Given the description of an element on the screen output the (x, y) to click on. 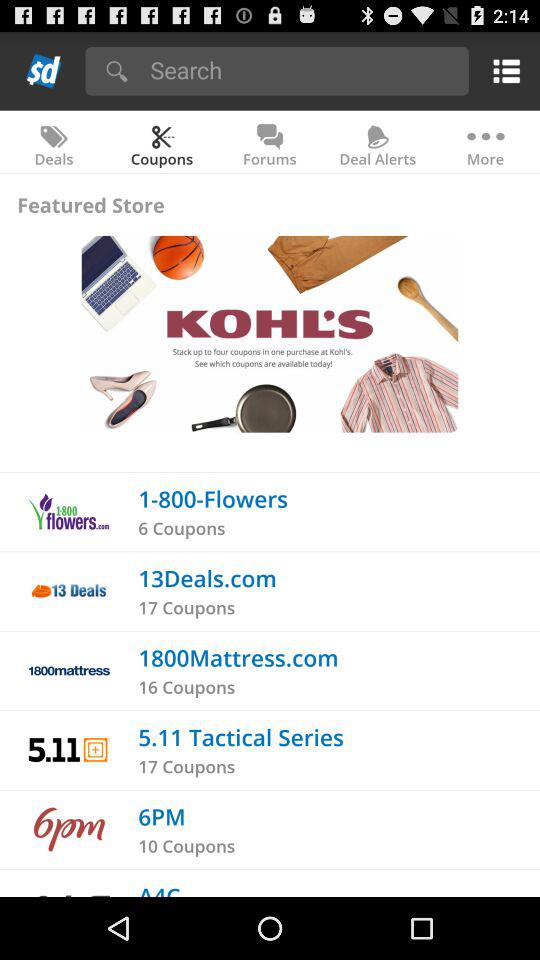
check menu (502, 70)
